Given the description of an element on the screen output the (x, y) to click on. 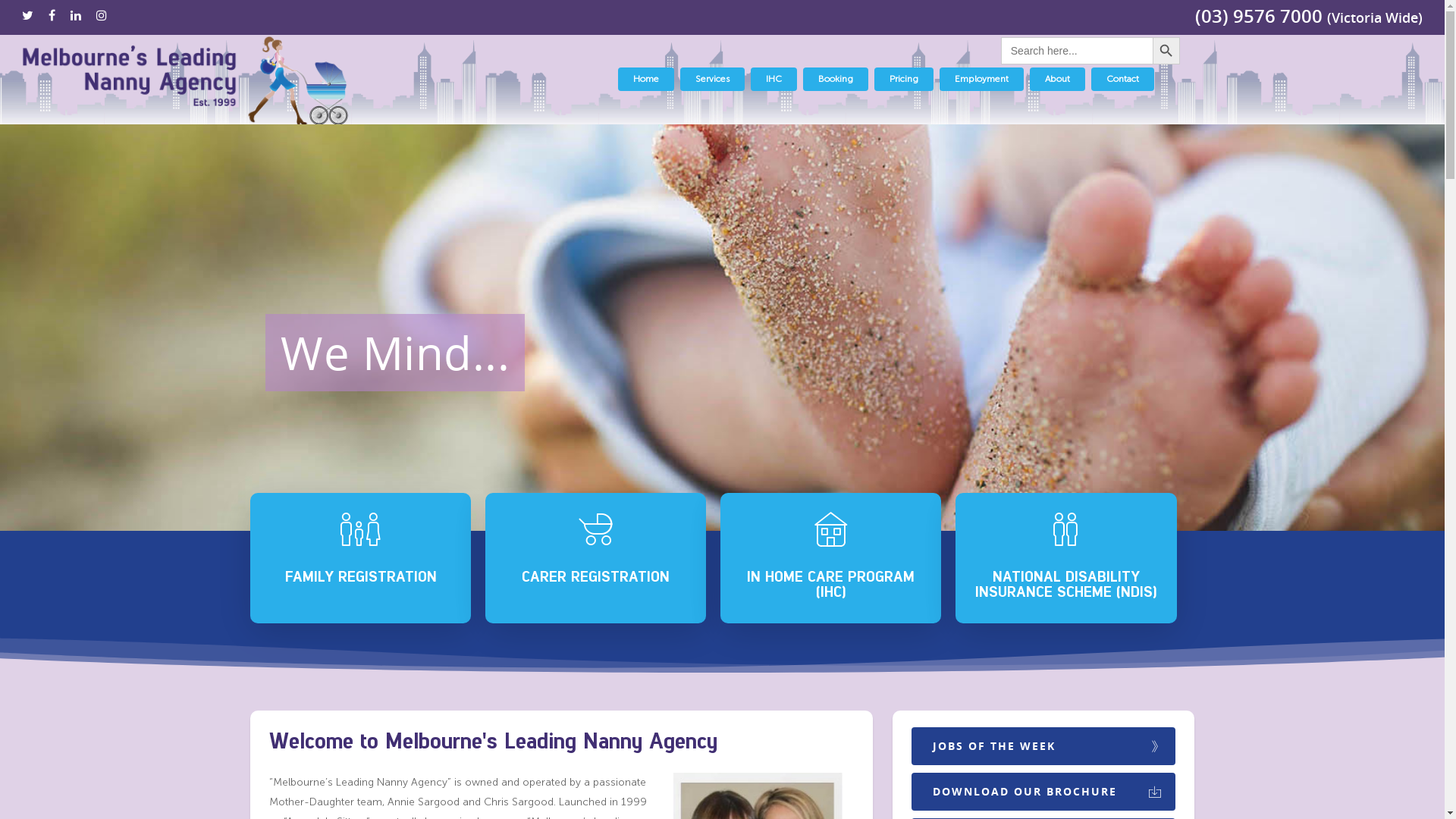
DOWNLOAD OUR BROCHURE Element type: text (1042, 791)
Search Button Element type: text (1165, 50)
Employment Element type: text (981, 78)
(03) 9576 7000 (Victoria Wide) Element type: text (1308, 17)
Contact Element type: text (1122, 78)
About Element type: text (1057, 78)
Pricing Element type: text (903, 78)
Home Element type: text (646, 78)
JOBS OF THE WEEK Element type: text (1042, 746)
Services Element type: text (712, 78)
Booking Element type: text (835, 78)
IHC Element type: text (773, 78)
